Given the description of an element on the screen output the (x, y) to click on. 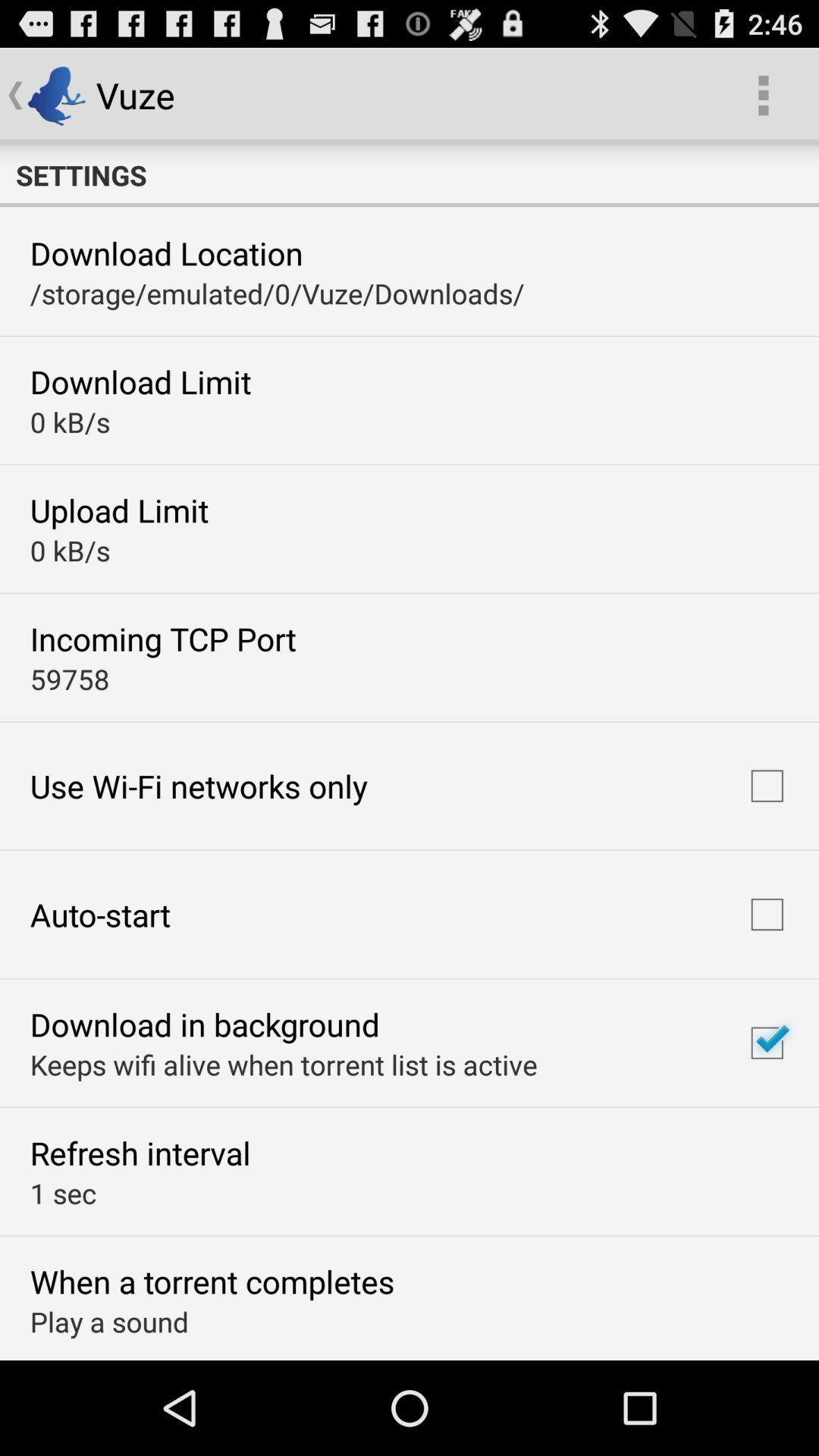
click icon at the top right corner (763, 95)
